Given the description of an element on the screen output the (x, y) to click on. 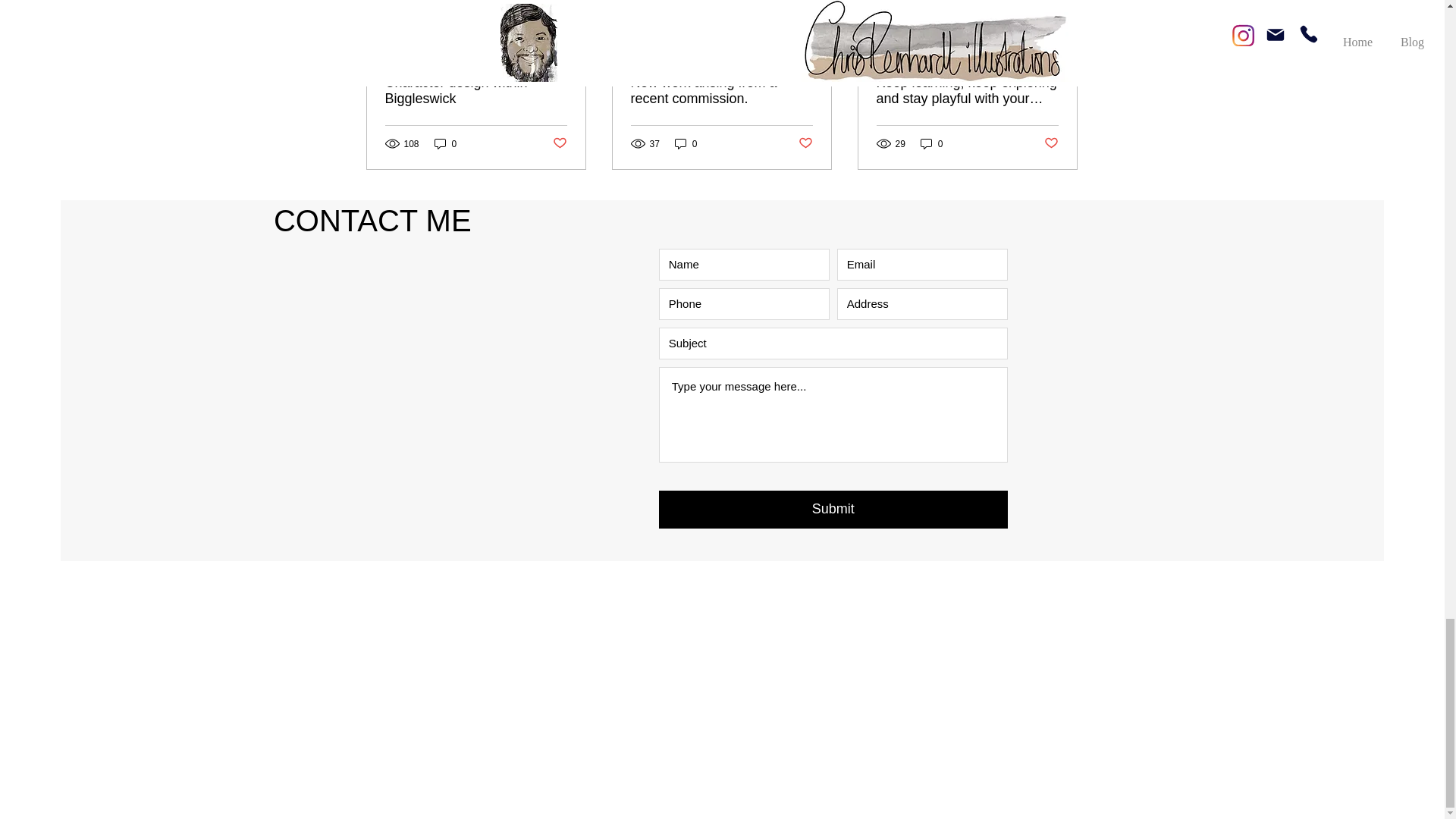
Submit (833, 509)
0 (445, 143)
0 (685, 143)
0 (931, 143)
Post not marked as liked (804, 143)
Post not marked as liked (1050, 143)
Post not marked as liked (558, 143)
Character design within Biggleswick (476, 91)
New work arising from a recent commission. (721, 91)
